Given the description of an element on the screen output the (x, y) to click on. 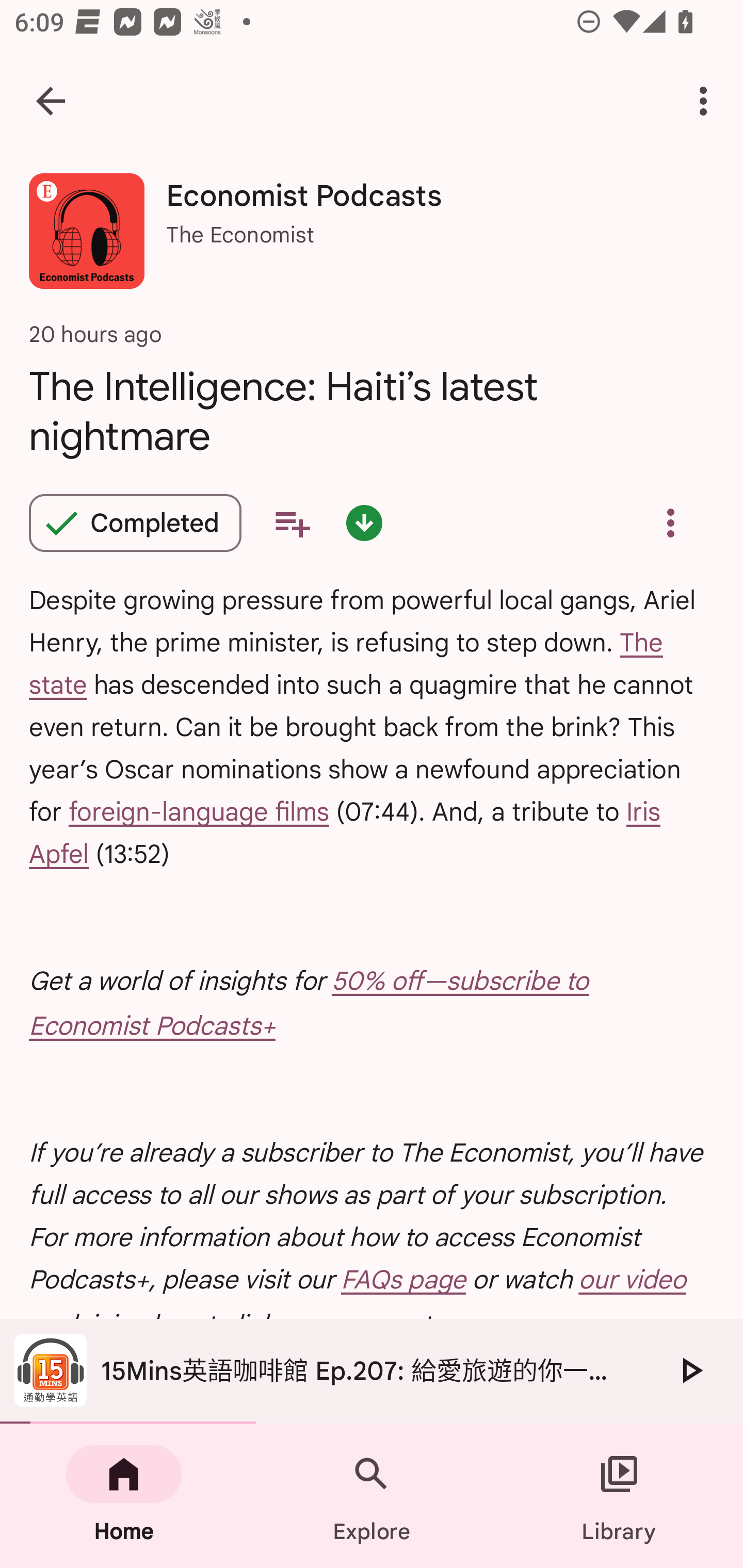
Navigate up (50, 101)
More options (706, 101)
Add to your queue (291, 522)
Episode downloaded - double tap for options (364, 522)
Overflow menu (670, 522)
Play (690, 1370)
Explore (371, 1495)
Library (619, 1495)
